Given the description of an element on the screen output the (x, y) to click on. 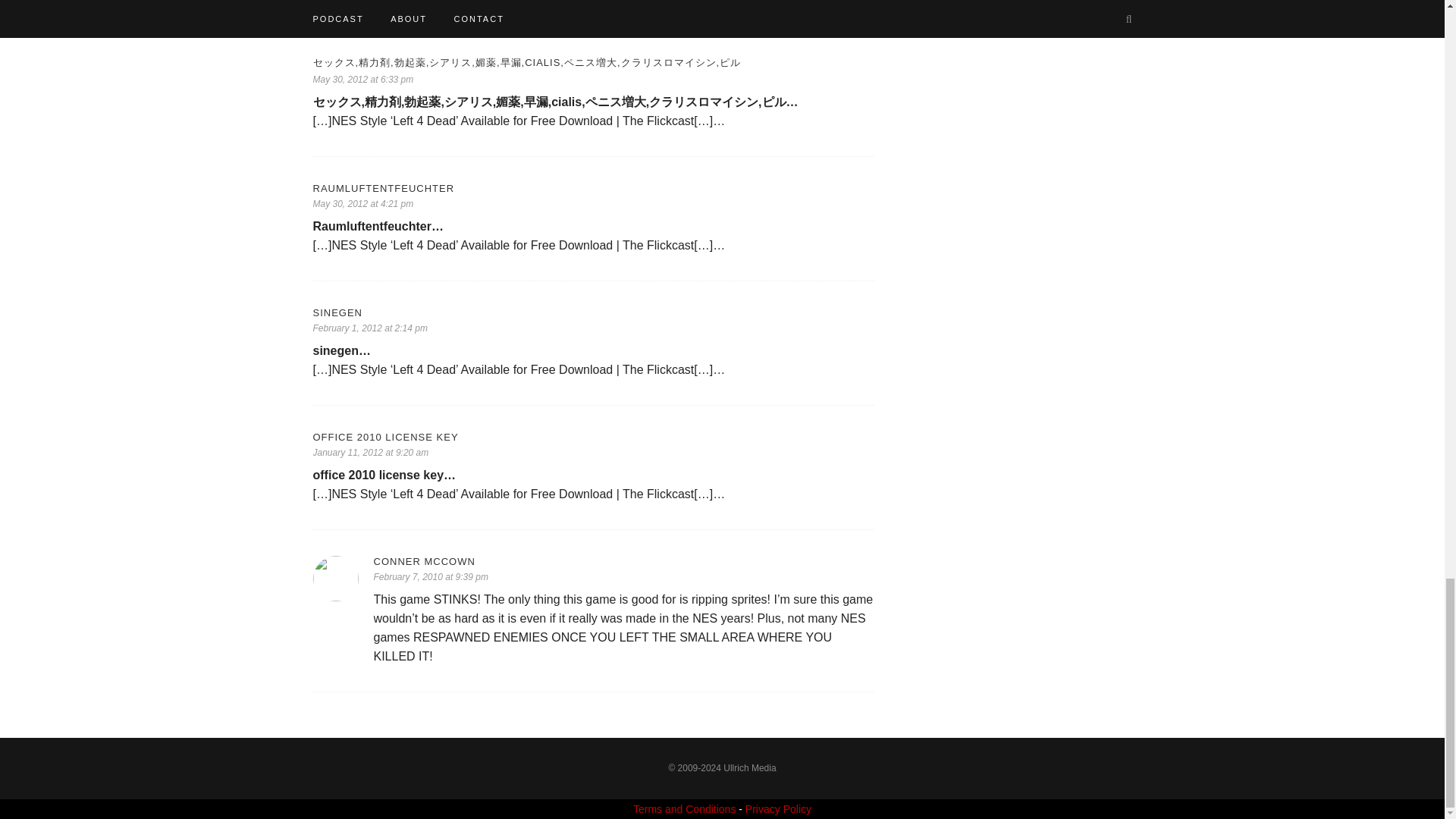
OFFICE 2010 LICENSE KEY (593, 437)
RAUMLUFTENTFEUCHTER (593, 188)
SINEGEN (593, 312)
